Given the description of an element on the screen output the (x, y) to click on. 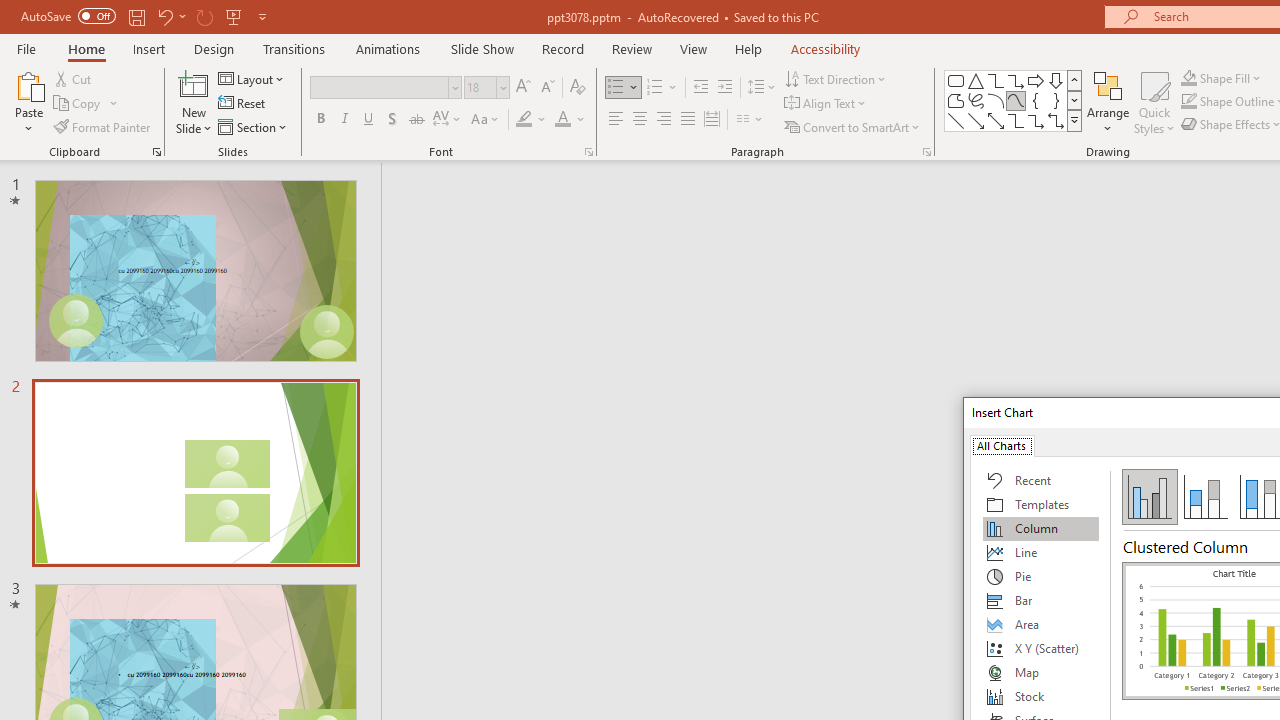
All Charts (1001, 444)
Clustered Column (1149, 496)
